Given the description of an element on the screen output the (x, y) to click on. 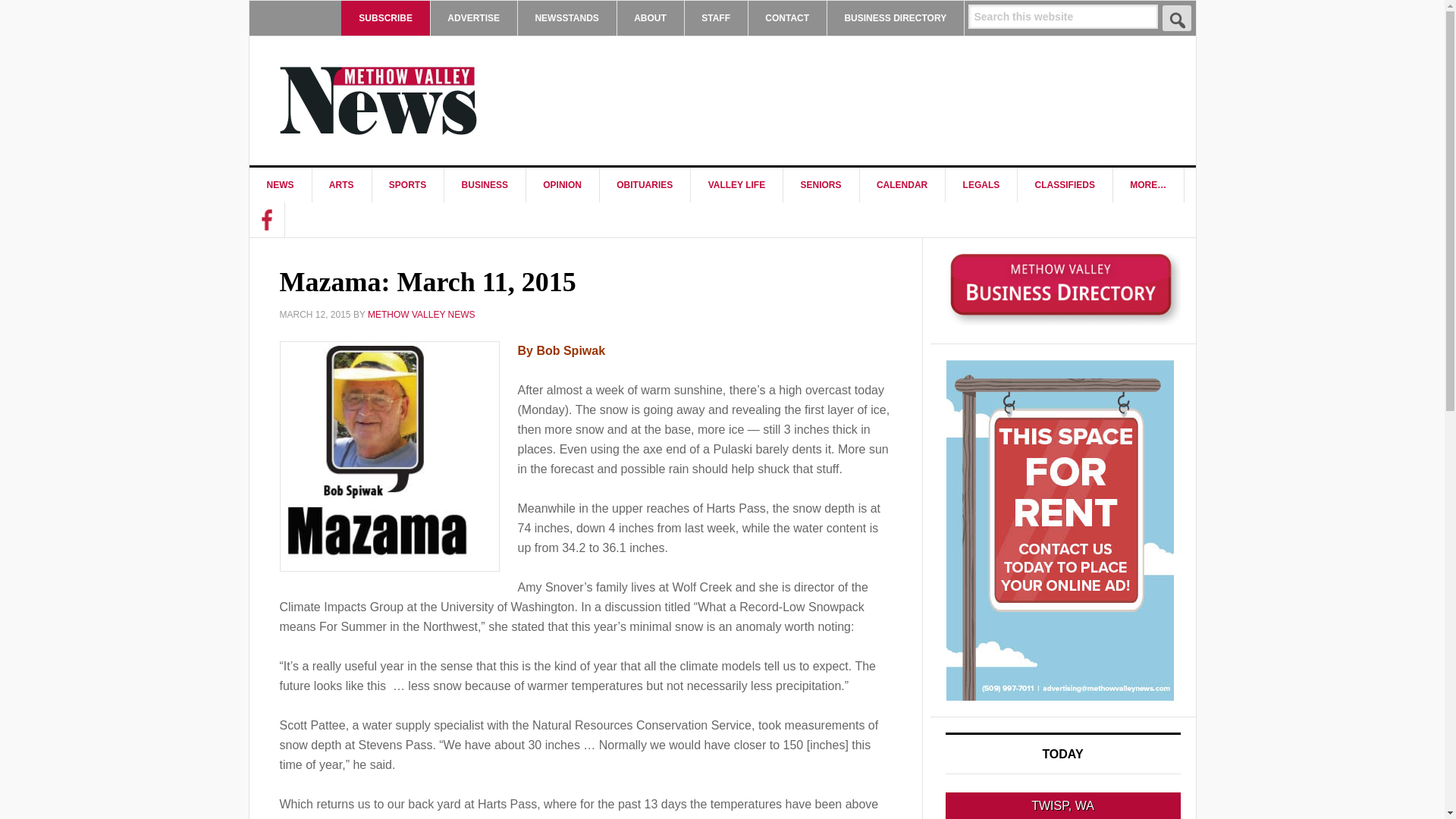
SUBSCRIBE (385, 18)
NEWS (279, 184)
ABOUT (649, 18)
BUSINESS DIRECTORY (895, 18)
ARTS (341, 184)
STAFF (716, 18)
CALENDAR (901, 184)
SENIORS (821, 184)
CONTACT (787, 18)
